Given the description of an element on the screen output the (x, y) to click on. 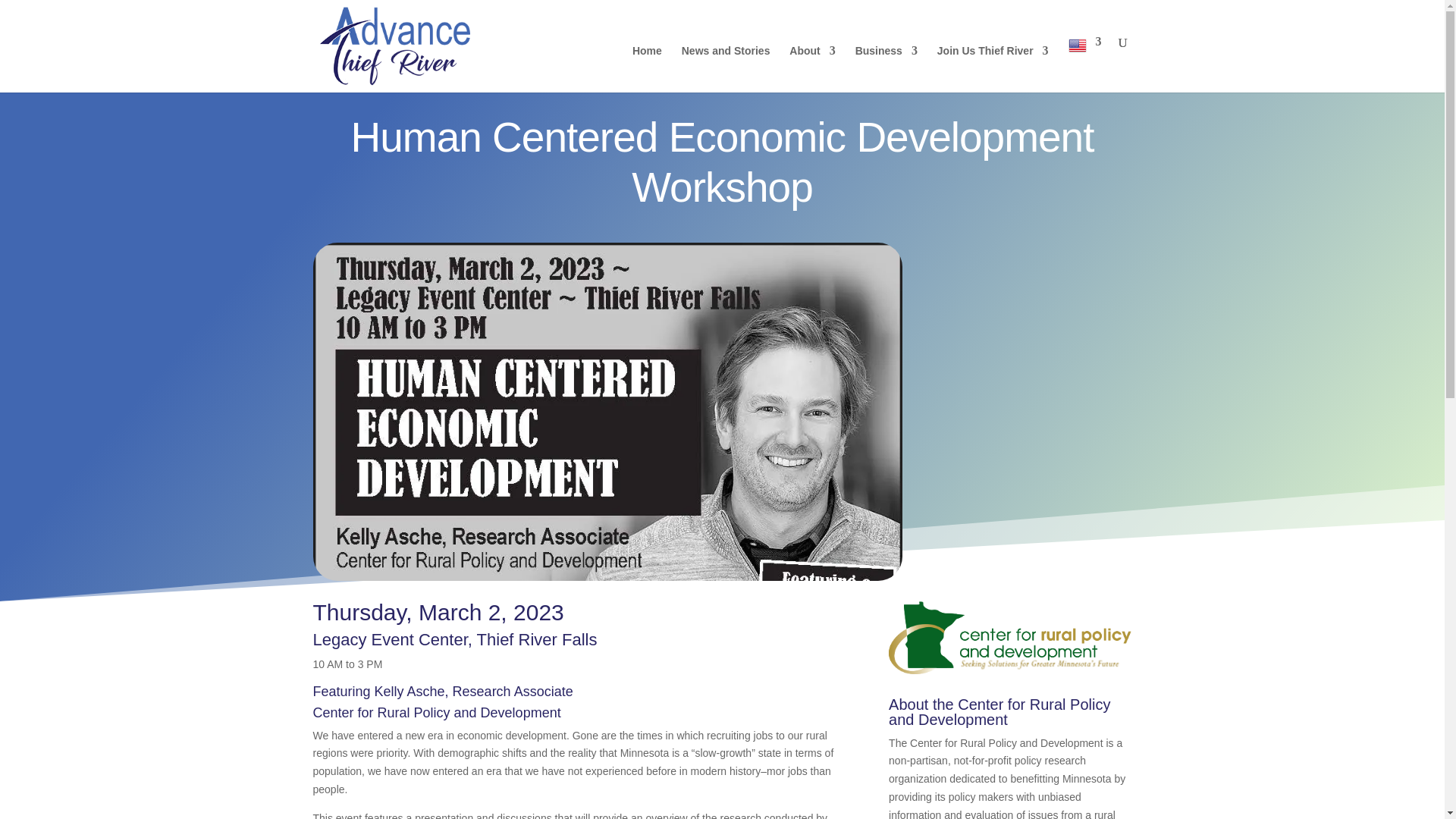
Business (886, 68)
English (1083, 64)
Home (646, 68)
rural policy (1009, 637)
Join Us Thief River (992, 68)
About (811, 68)
News and Stories (725, 68)
